Given the description of an element on the screen output the (x, y) to click on. 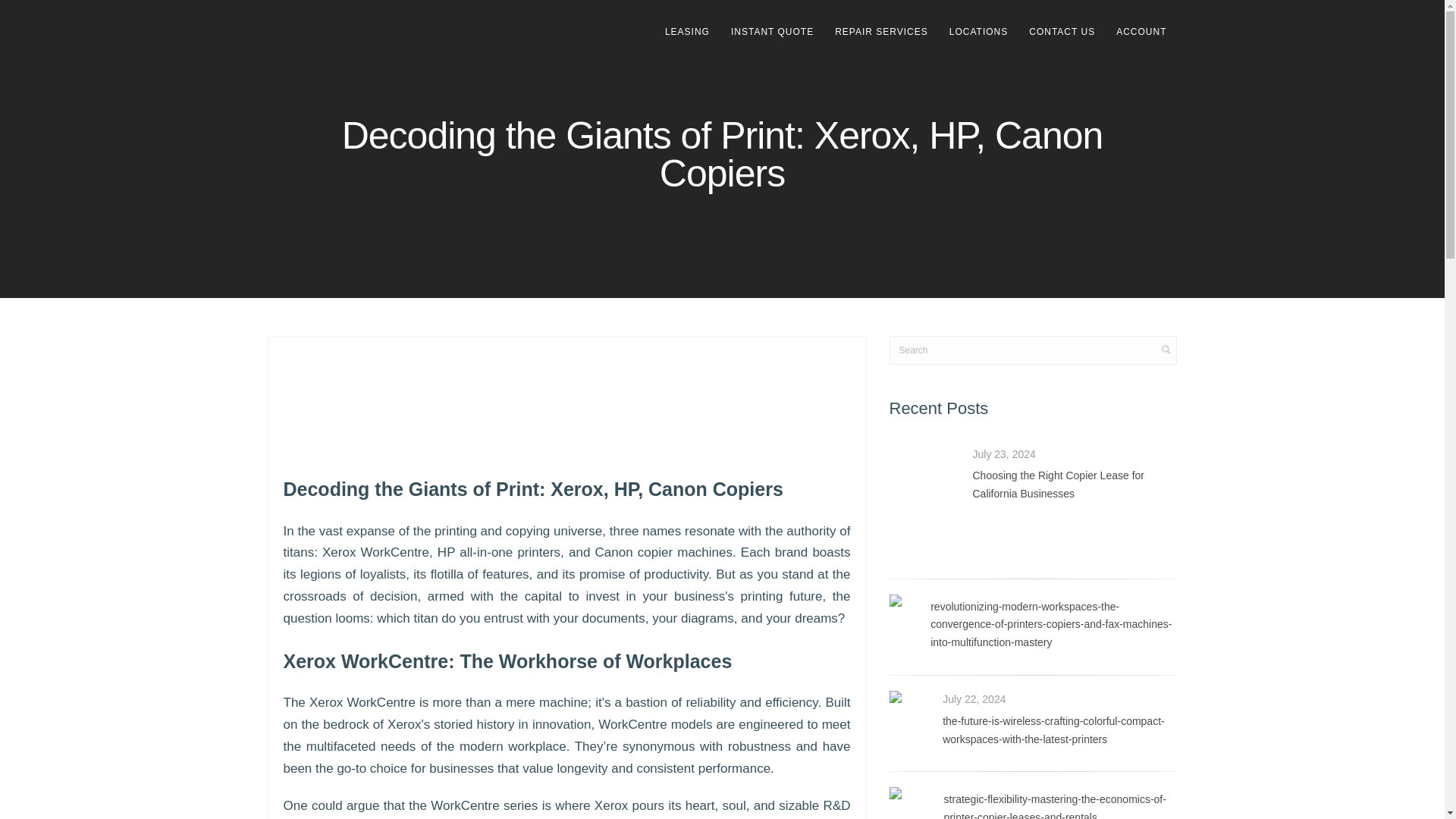
INSTANT QUOTE (772, 31)
ACCOUNT (1140, 31)
Choosing the Right Copier Lease for California Businesses (1057, 484)
LOCATIONS (978, 31)
REPAIR SERVICES (881, 31)
LEASING (686, 31)
CONTACT US (1061, 31)
